Given the description of an element on the screen output the (x, y) to click on. 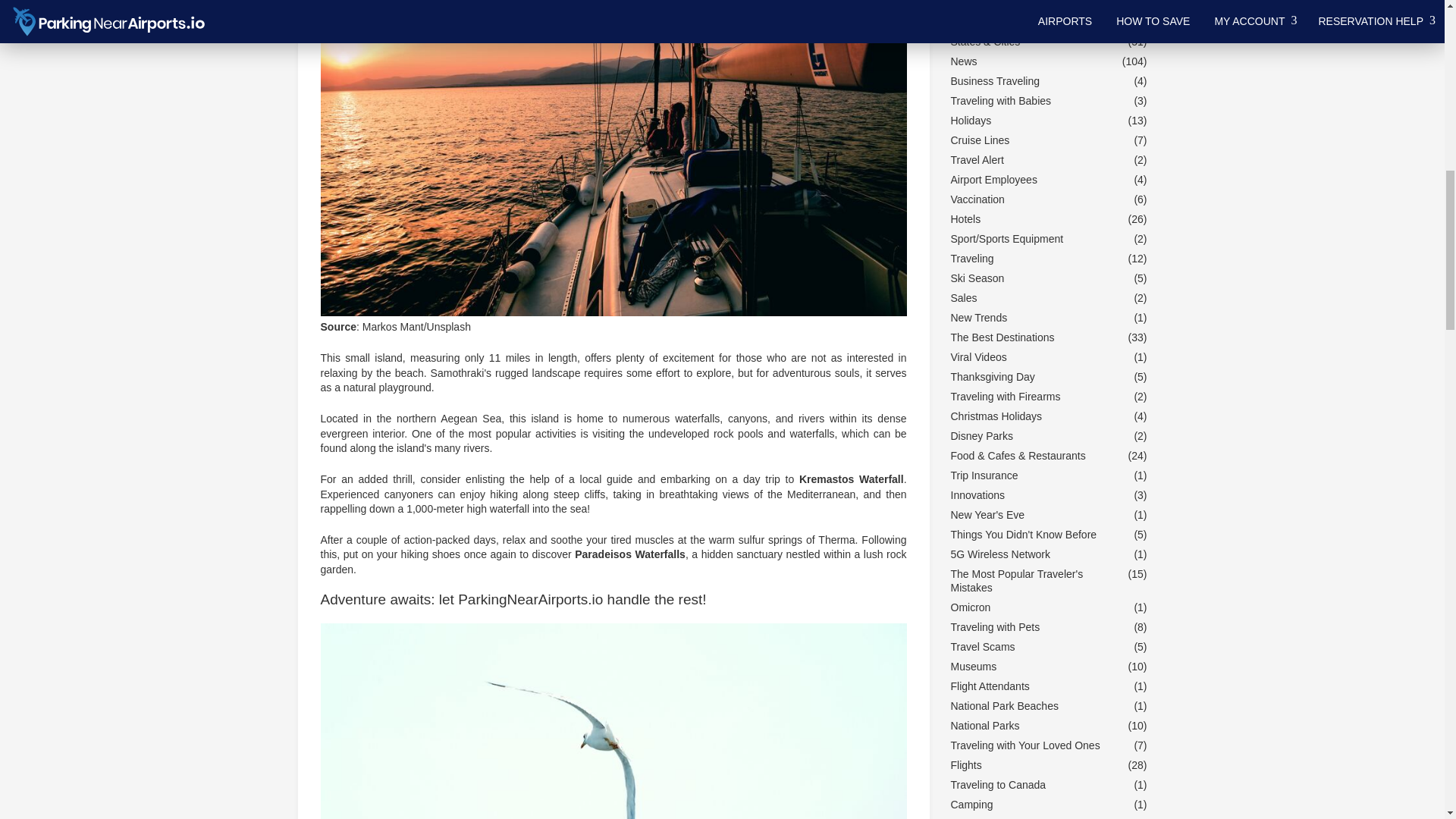
Kremastos Waterfall (851, 479)
Paradeisos Waterfalls (630, 553)
